Given the description of an element on the screen output the (x, y) to click on. 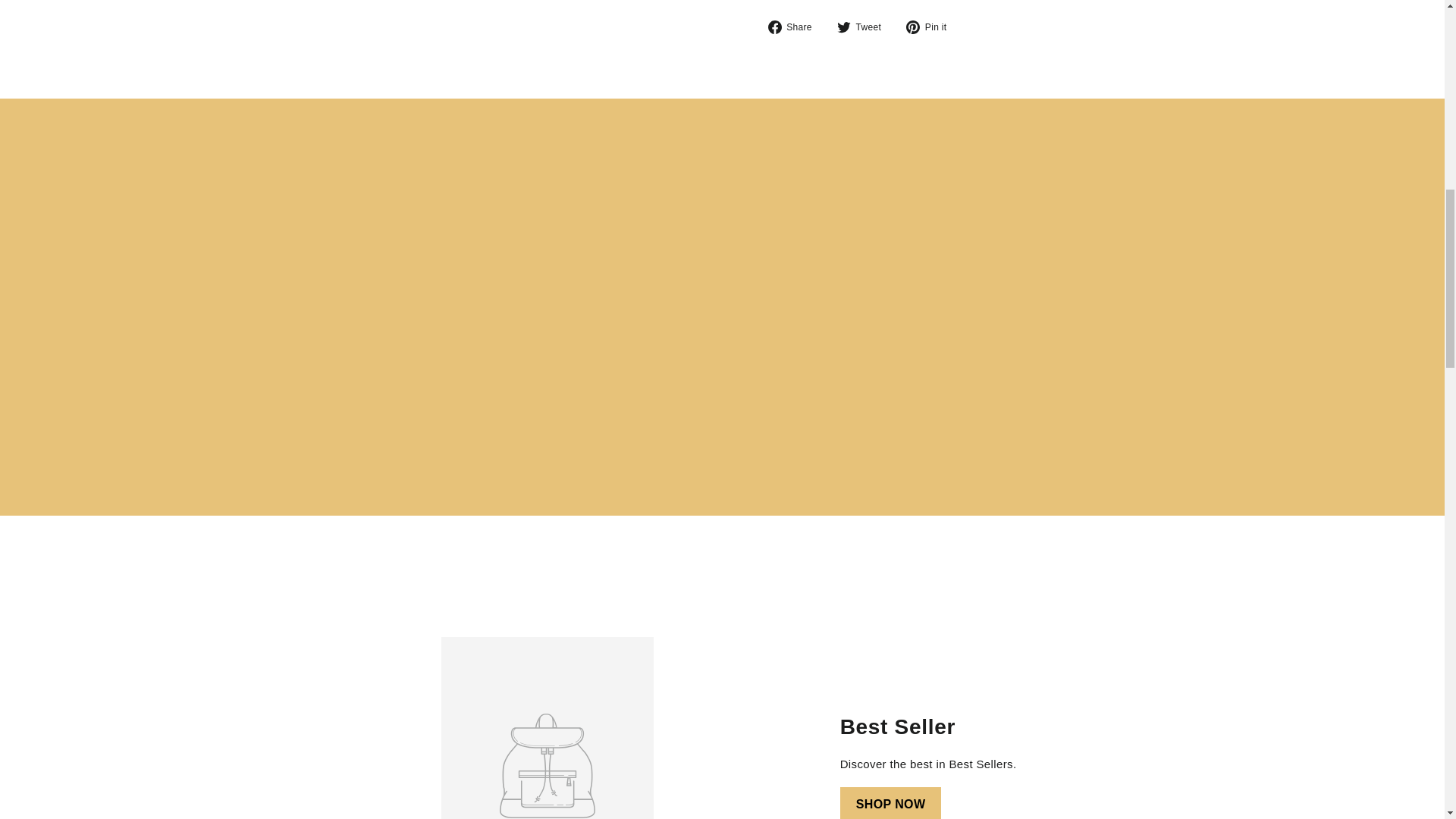
Tweet on Twitter (864, 27)
Pin on Pinterest (931, 27)
Share on Facebook (794, 27)
